Given the description of an element on the screen output the (x, y) to click on. 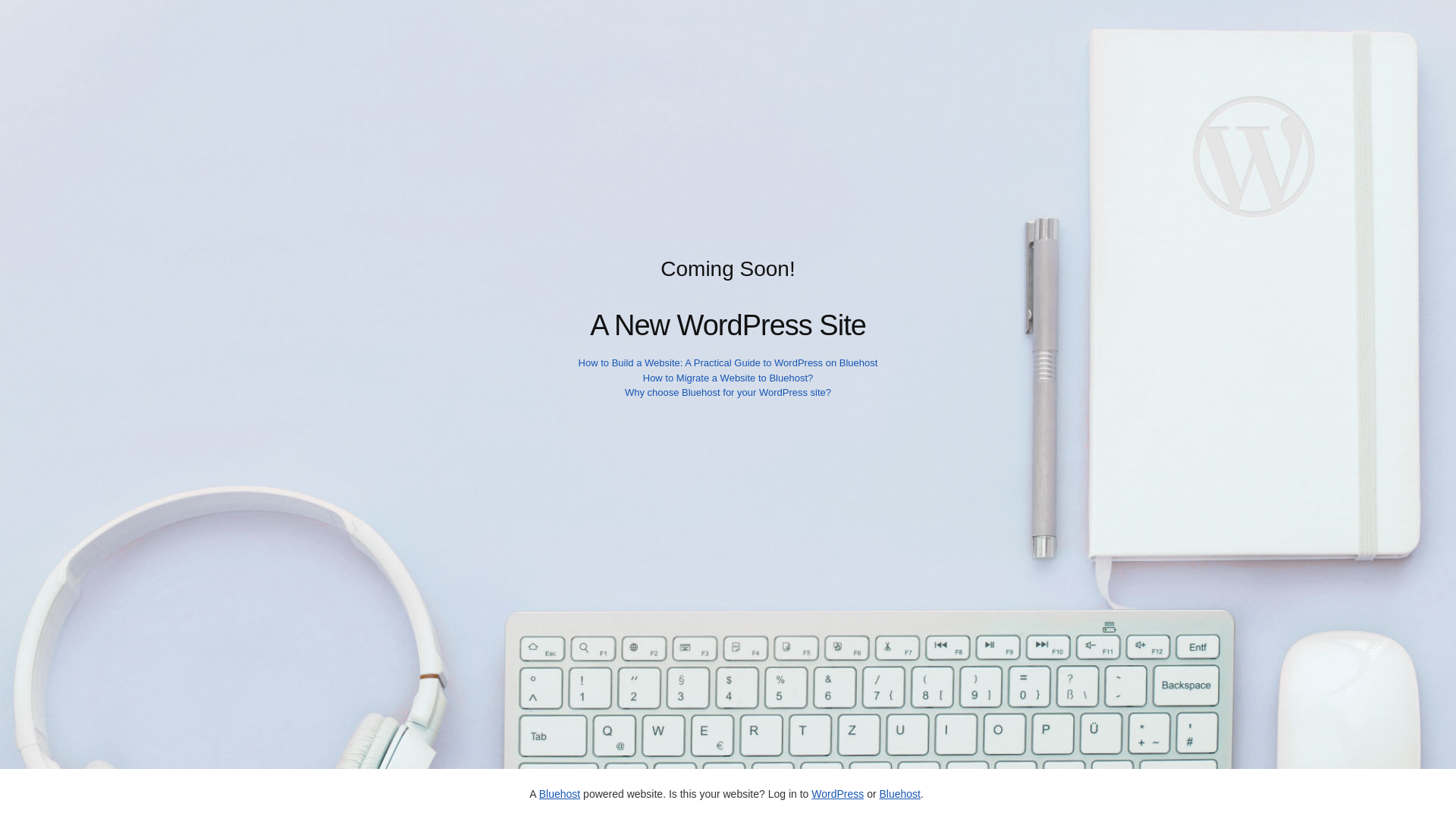
WordPress (836, 793)
Bluehost (899, 793)
Bluehost (558, 793)
Why choose Bluehost for your WordPress site? (727, 392)
How to Migrate a Website to Bluehost? (728, 378)
